Given the description of an element on the screen output the (x, y) to click on. 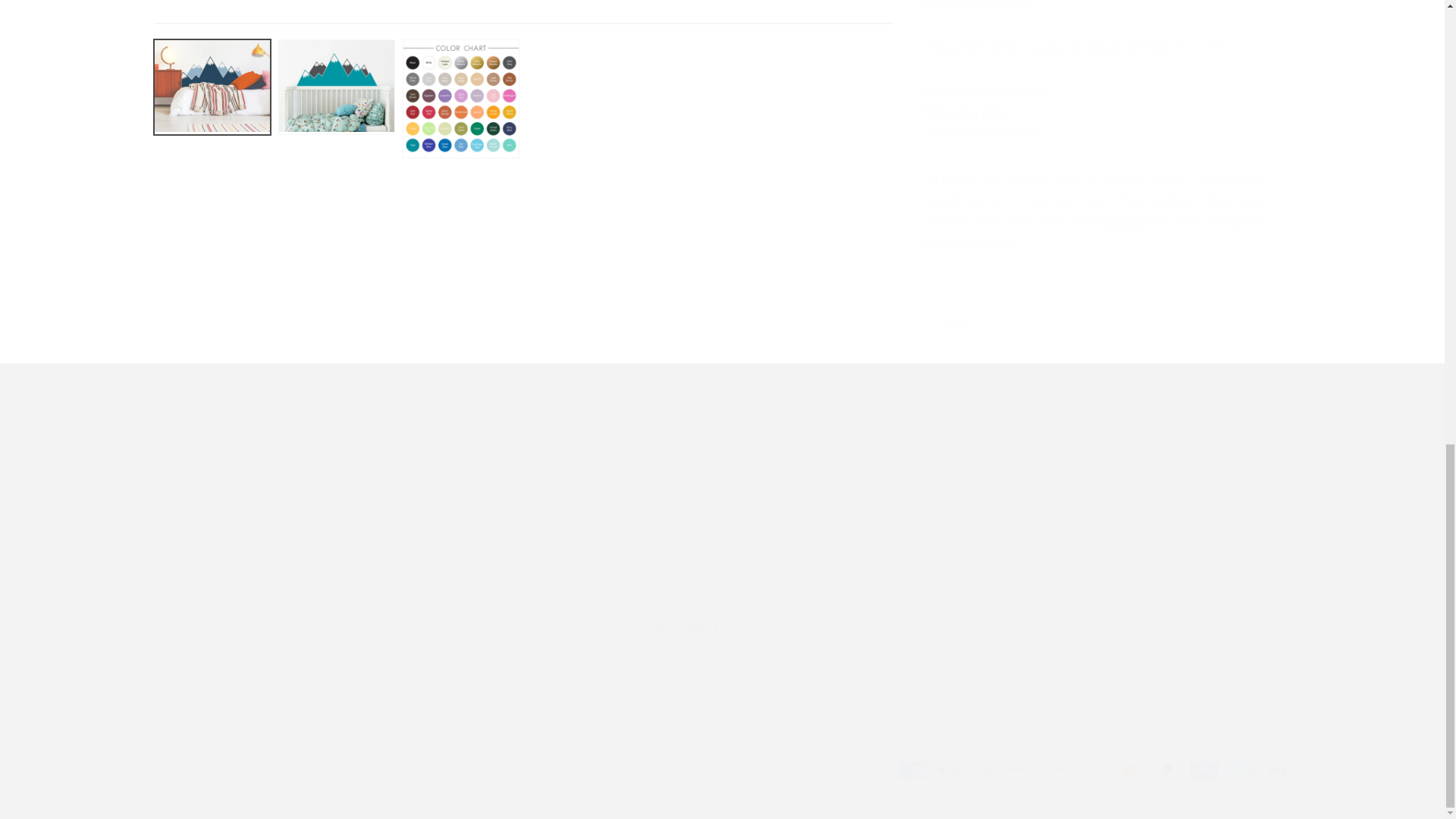
FAQ page wall decals (1121, 210)
